Given the description of an element on the screen output the (x, y) to click on. 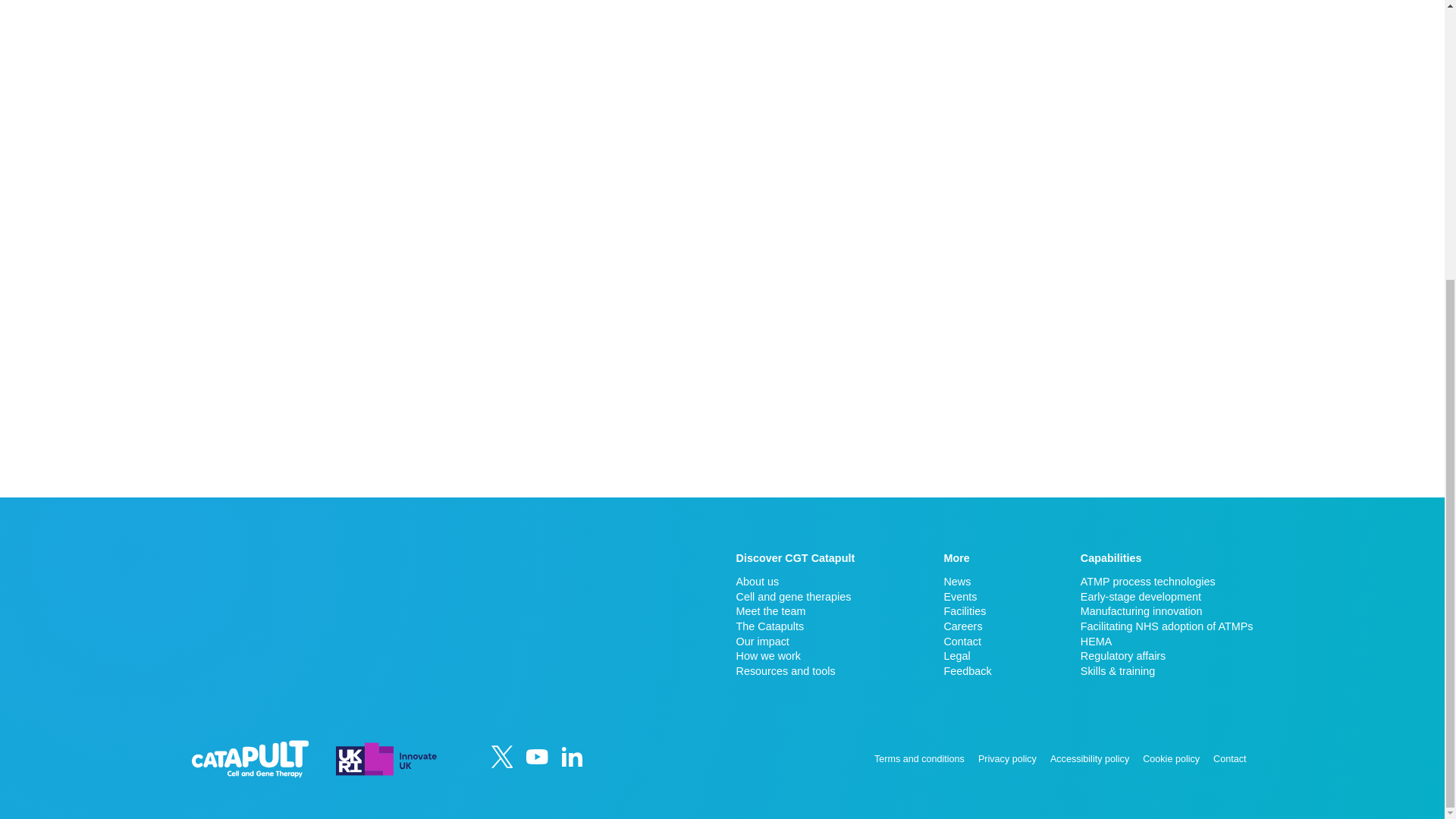
Cookie policy (1171, 758)
Resources and tools (794, 670)
Feedback (967, 670)
iframe (358, 608)
Privacy policy (1007, 758)
News (967, 581)
Contact (967, 641)
Regulatory affairs (1166, 655)
Contact (1229, 758)
Accessibility policy (1089, 758)
Terms and conditions (919, 758)
Facilitating NHS adoption of ATMPs (1166, 626)
Early-stage development (1166, 596)
ATMP process technologies (1166, 581)
About us (794, 581)
